Given the description of an element on the screen output the (x, y) to click on. 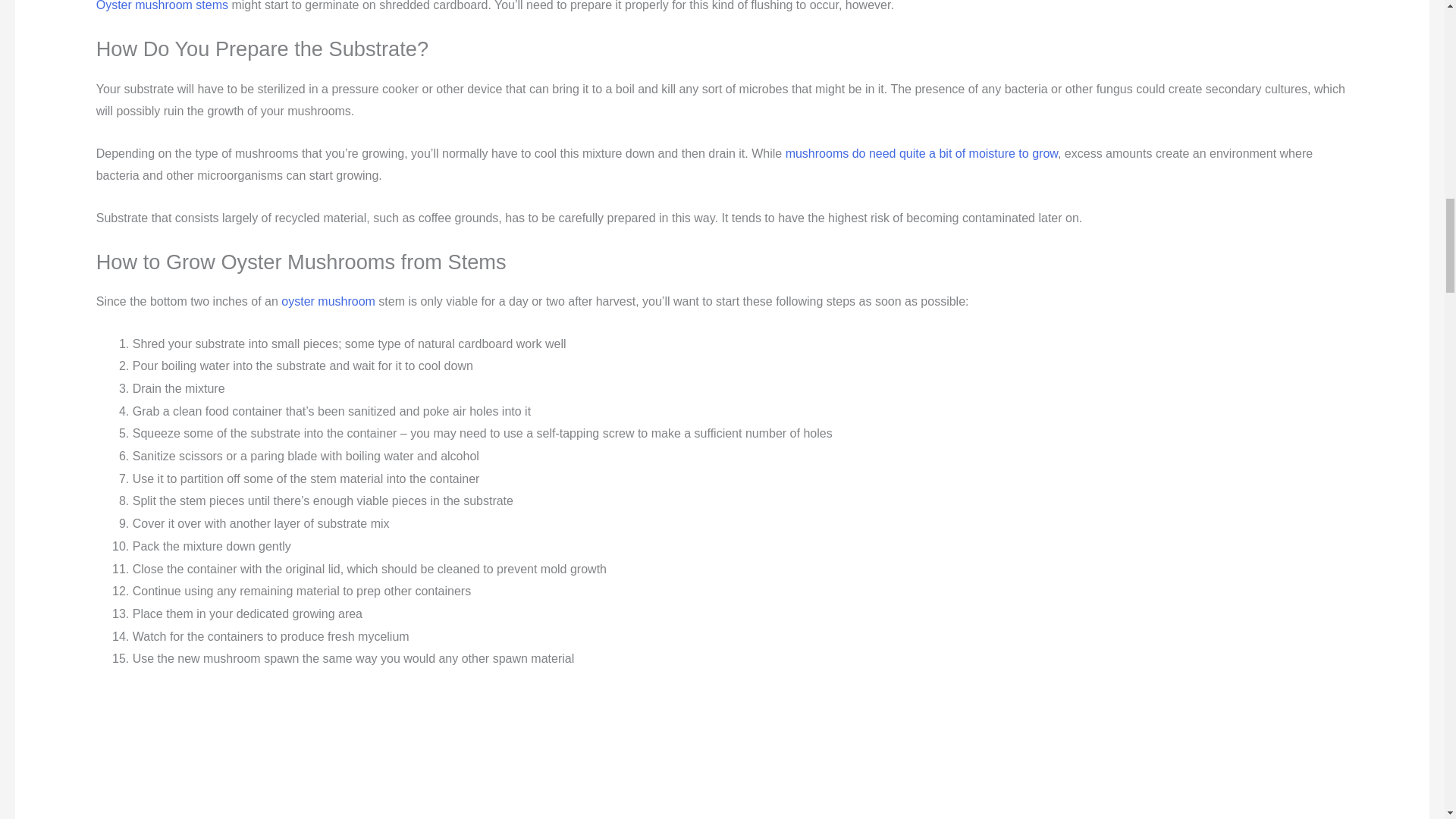
mushrooms do need quite a bit of moisture to grow (922, 153)
oyster mushroom (328, 300)
Oyster mushroom stems (162, 5)
